Given the description of an element on the screen output the (x, y) to click on. 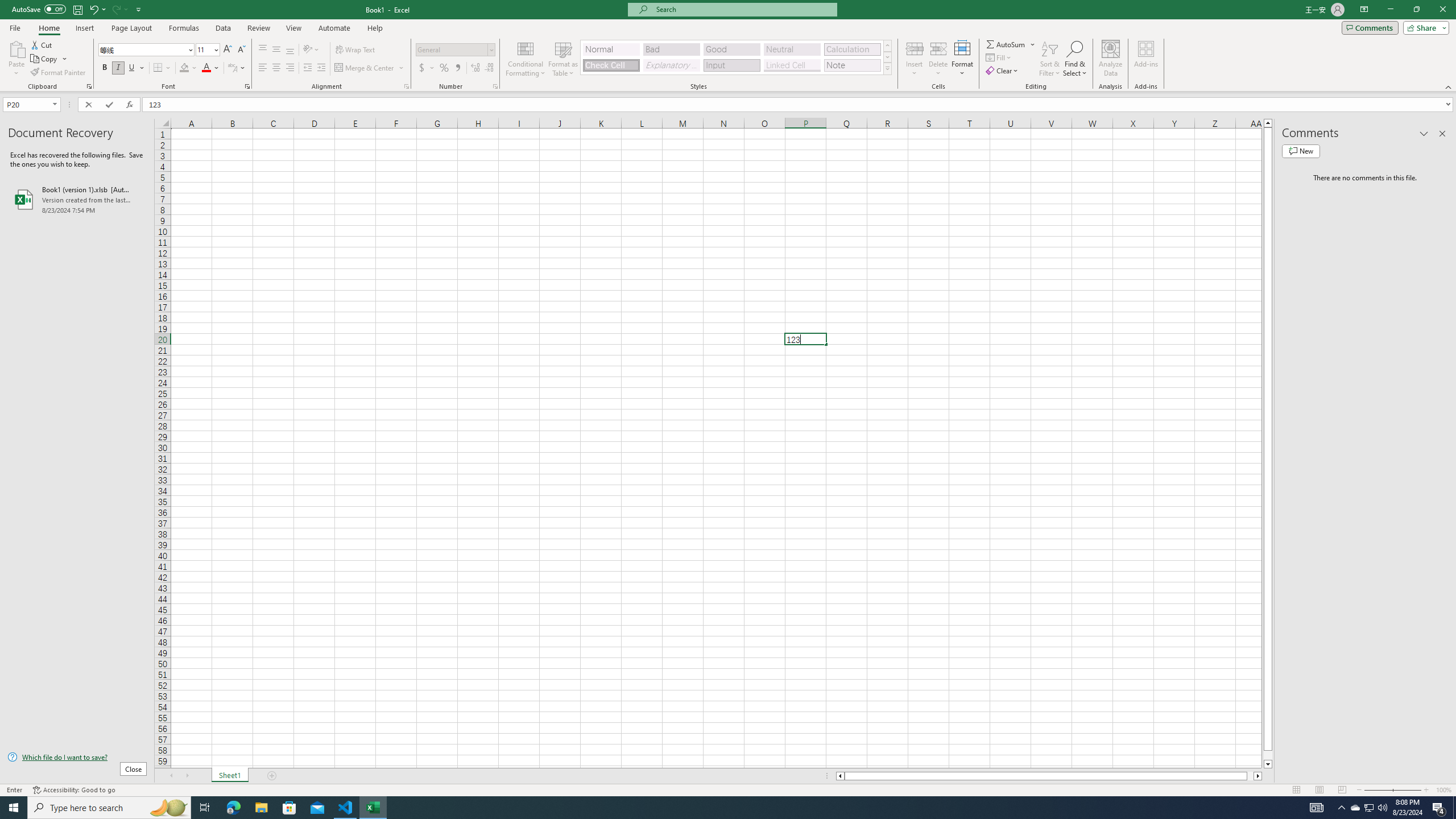
Office Clipboard... (88, 85)
Minimize (1390, 9)
Calculation (852, 49)
Class: NetUIImage (887, 68)
New comment (1300, 151)
Number Format (451, 49)
Page right (1250, 775)
Find & Select (1075, 58)
AutoSum (1011, 44)
Fill (999, 56)
Open (54, 104)
Orientation (311, 49)
Scroll Right (187, 775)
